Given the description of an element on the screen output the (x, y) to click on. 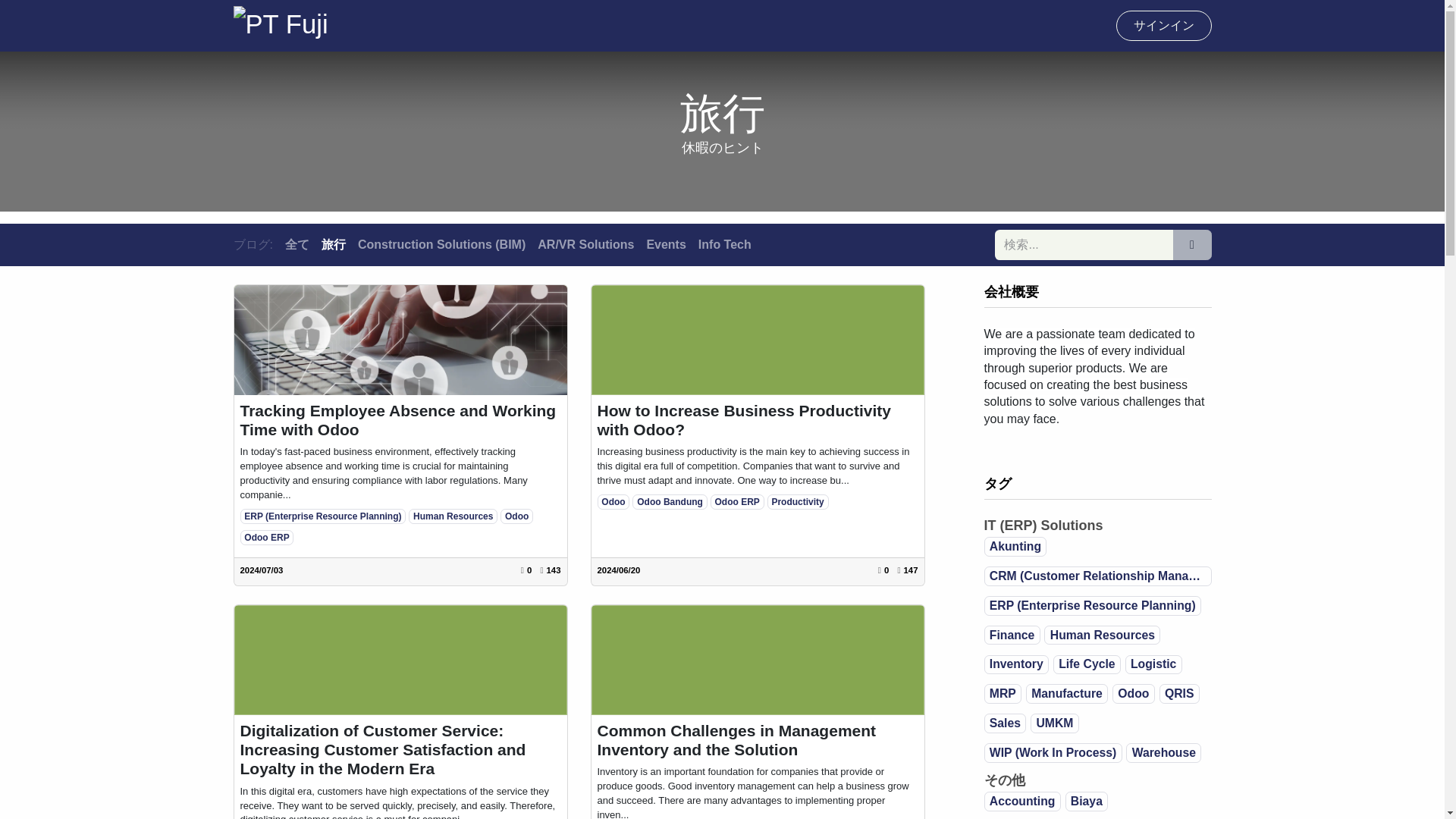
Tracking Employee Absence and Working Time with Odoo (400, 419)
PT Fujicon Priangan Perdana (279, 25)
Events (665, 244)
Info Tech (725, 244)
